Given the description of an element on the screen output the (x, y) to click on. 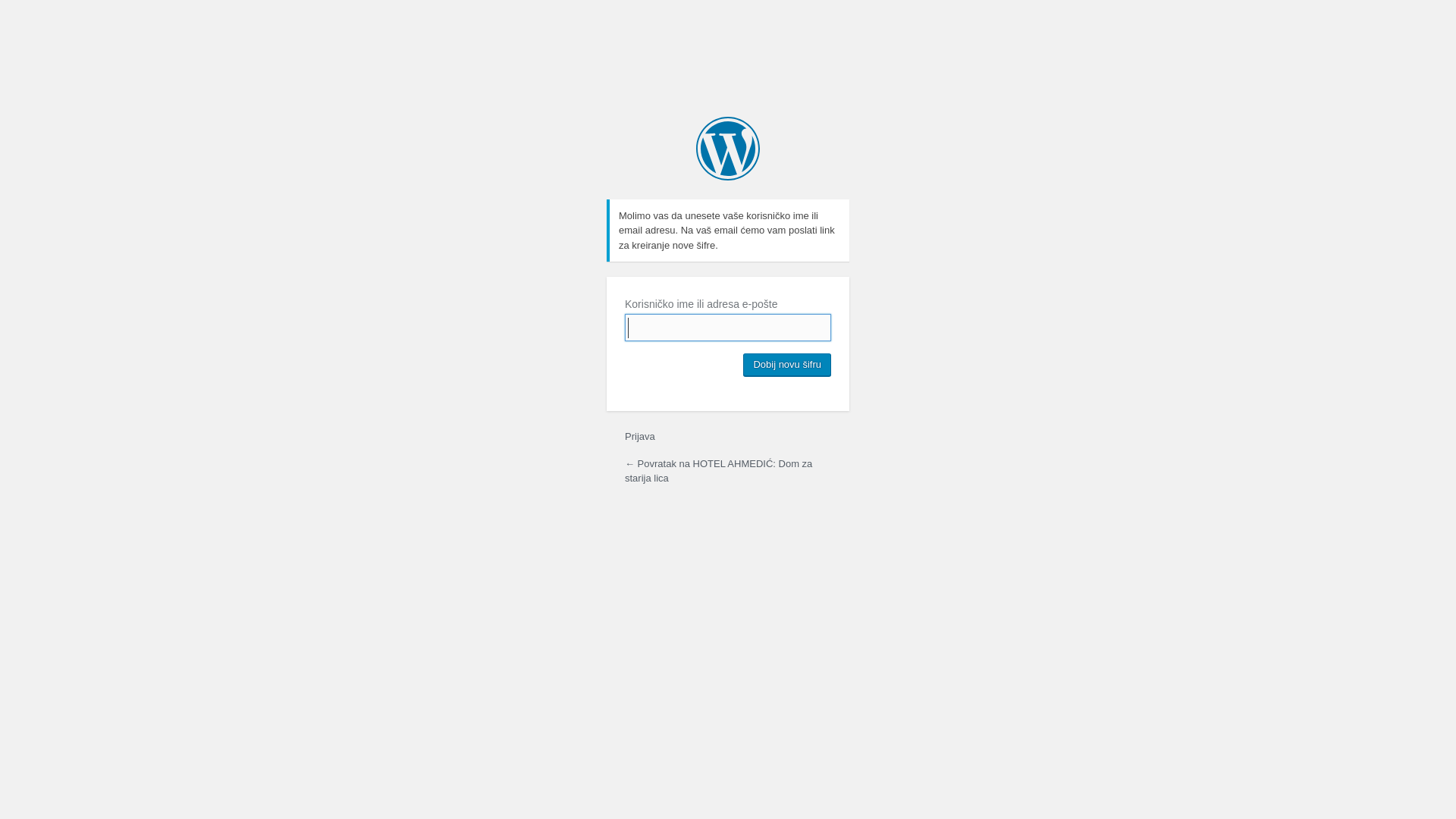
Prijava Element type: text (639, 436)
Zasnovano na WordPressu Element type: text (727, 148)
